Given the description of an element on the screen output the (x, y) to click on. 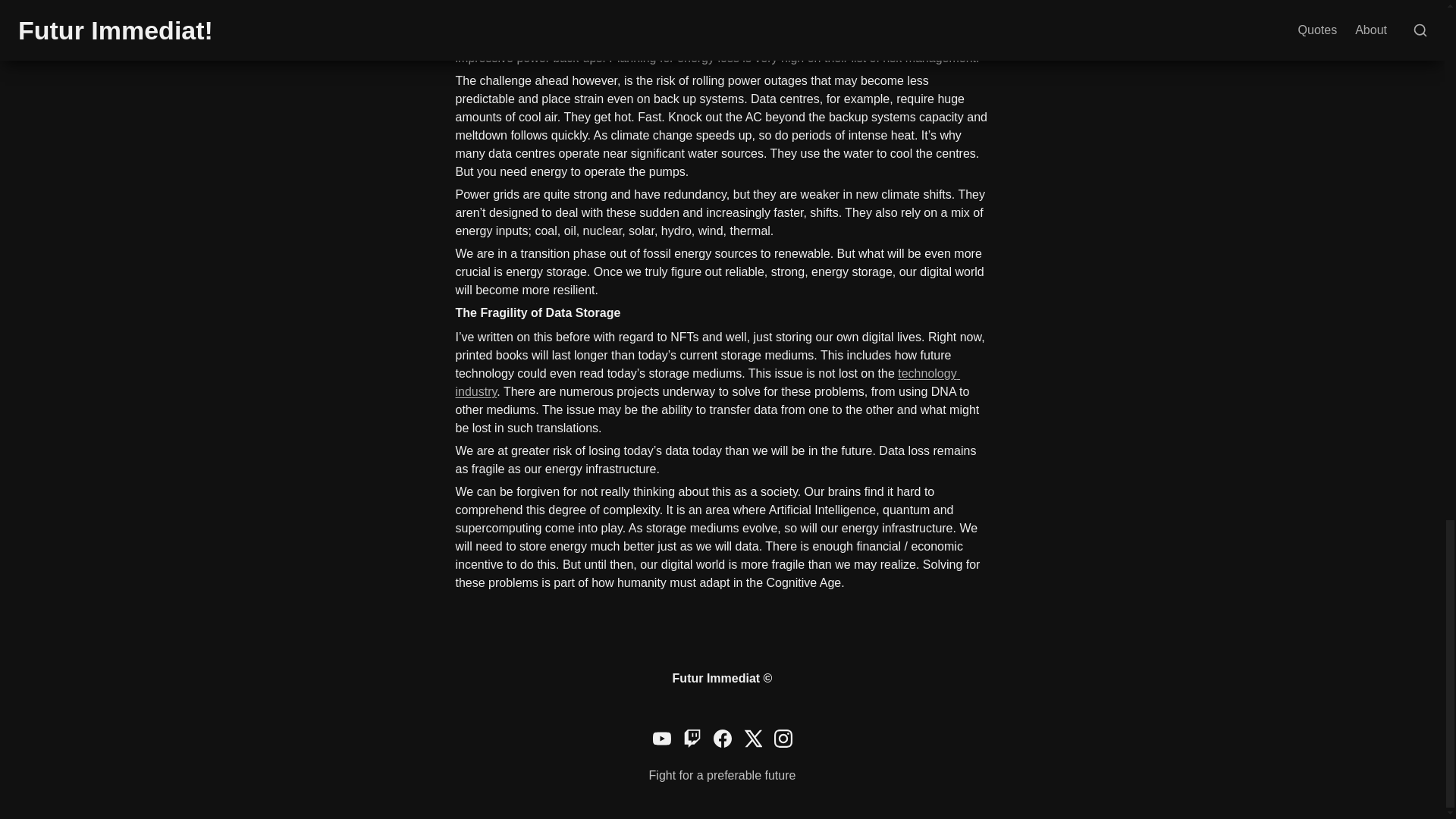
YouTube (660, 738)
X (751, 738)
Twitch (691, 738)
Twitch (691, 738)
technology industry (706, 382)
Instagram (782, 738)
Facebook (721, 738)
Instagram (782, 738)
YouTube (660, 738)
Facebook (721, 738)
